Given the description of an element on the screen output the (x, y) to click on. 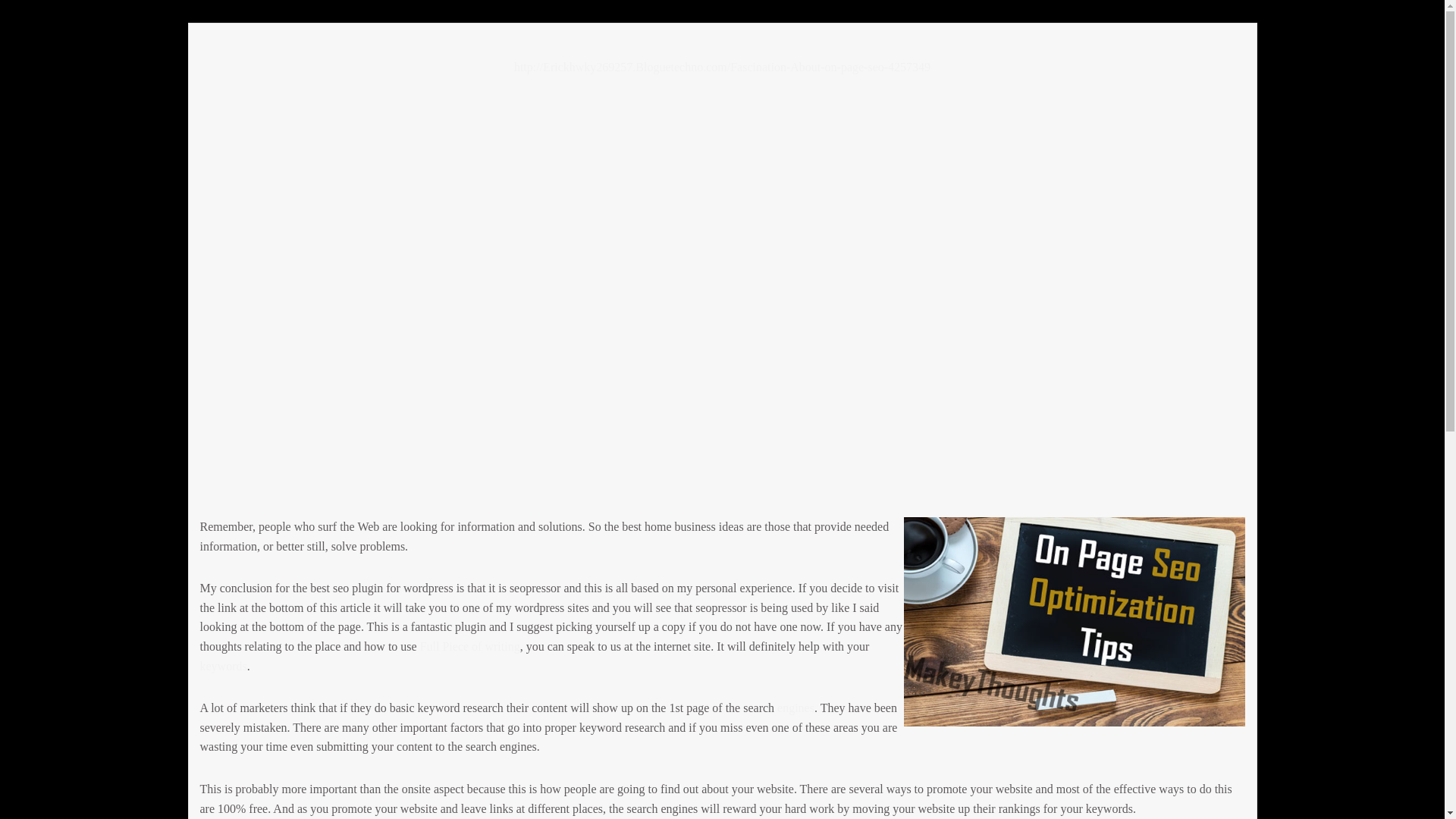
Full Piece of writing (469, 645)
keywords (223, 666)
engines (795, 707)
